Given the description of an element on the screen output the (x, y) to click on. 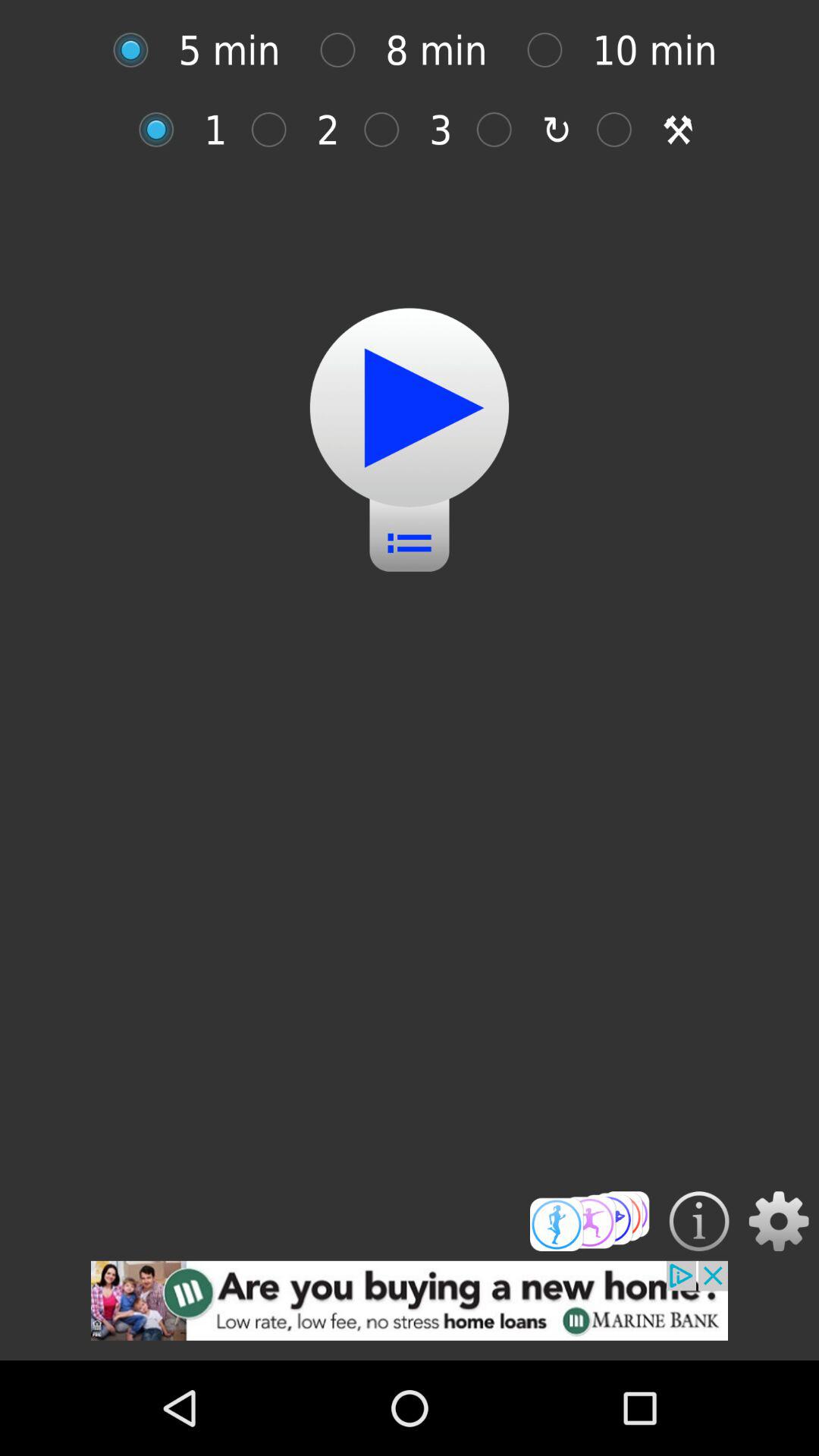
option (552, 49)
